Given the description of an element on the screen output the (x, y) to click on. 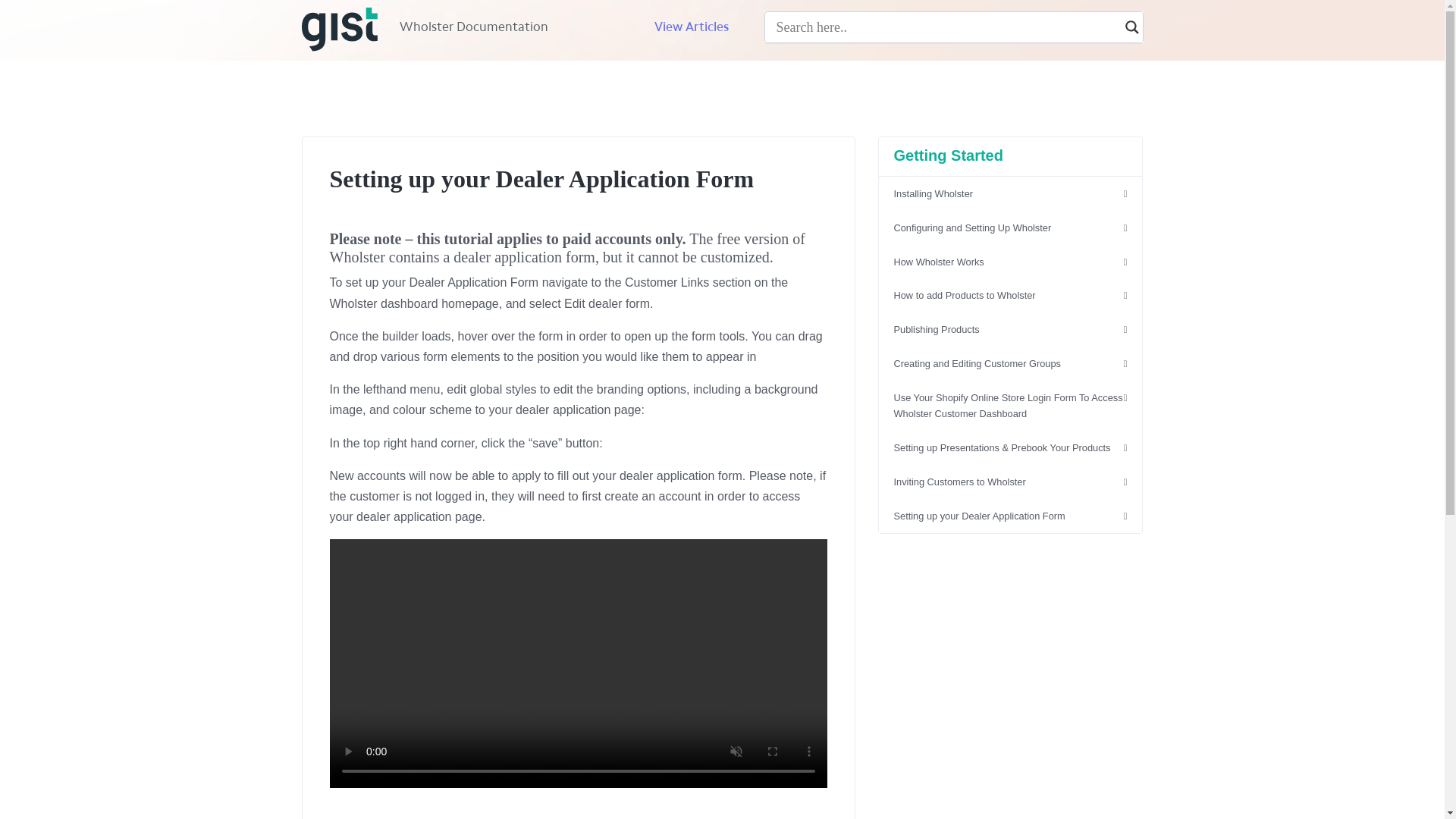
Creating and Editing Customer Groups (1009, 363)
How Wholster Works (1009, 262)
Setting up your Dealer Application Form (1009, 515)
How to add Products to Wholster (1009, 295)
View Articles (691, 26)
FAQ (778, 26)
Inviting Customers to Wholster (1009, 482)
Getting Started (948, 155)
Installing Wholster (1009, 193)
Configuring and Setting Up Wholster (1009, 227)
Publishing Products (1009, 329)
